Given the description of an element on the screen output the (x, y) to click on. 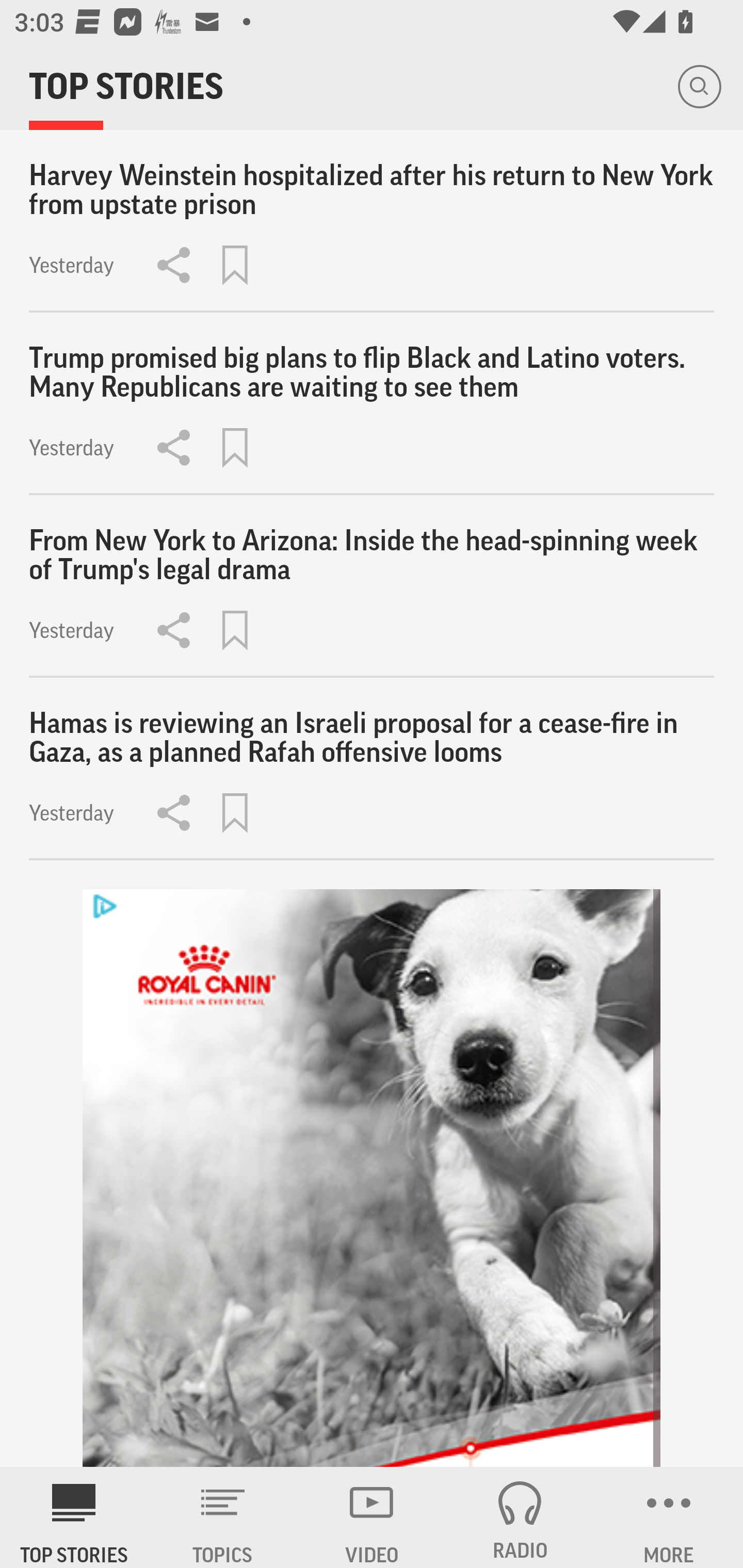
AP News TOP STORIES (74, 1517)
TOPICS (222, 1517)
VIDEO (371, 1517)
RADIO (519, 1517)
MORE (668, 1517)
